Given the description of an element on the screen output the (x, y) to click on. 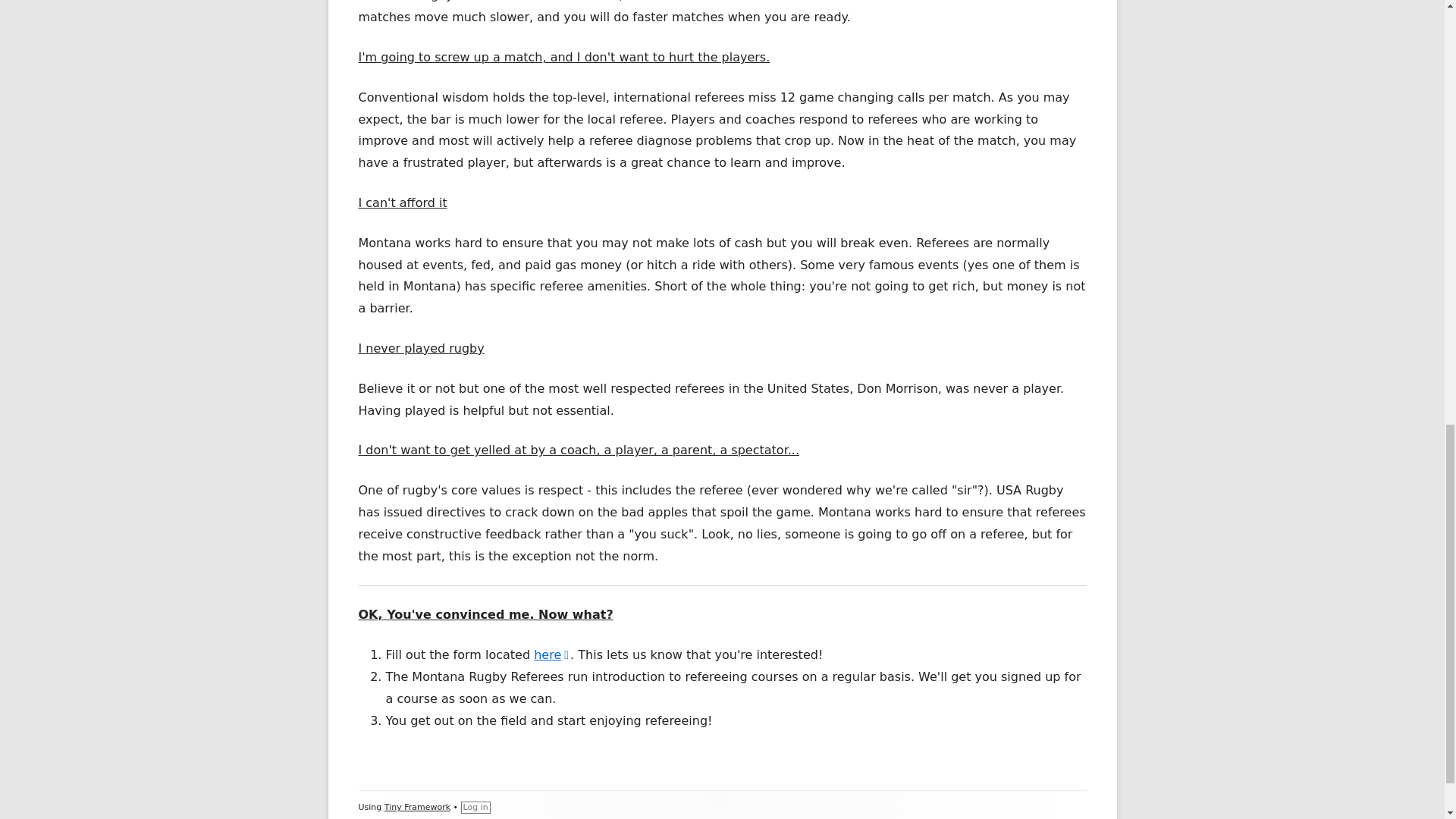
Log in (552, 654)
Tiny Framework (475, 807)
